Given the description of an element on the screen output the (x, y) to click on. 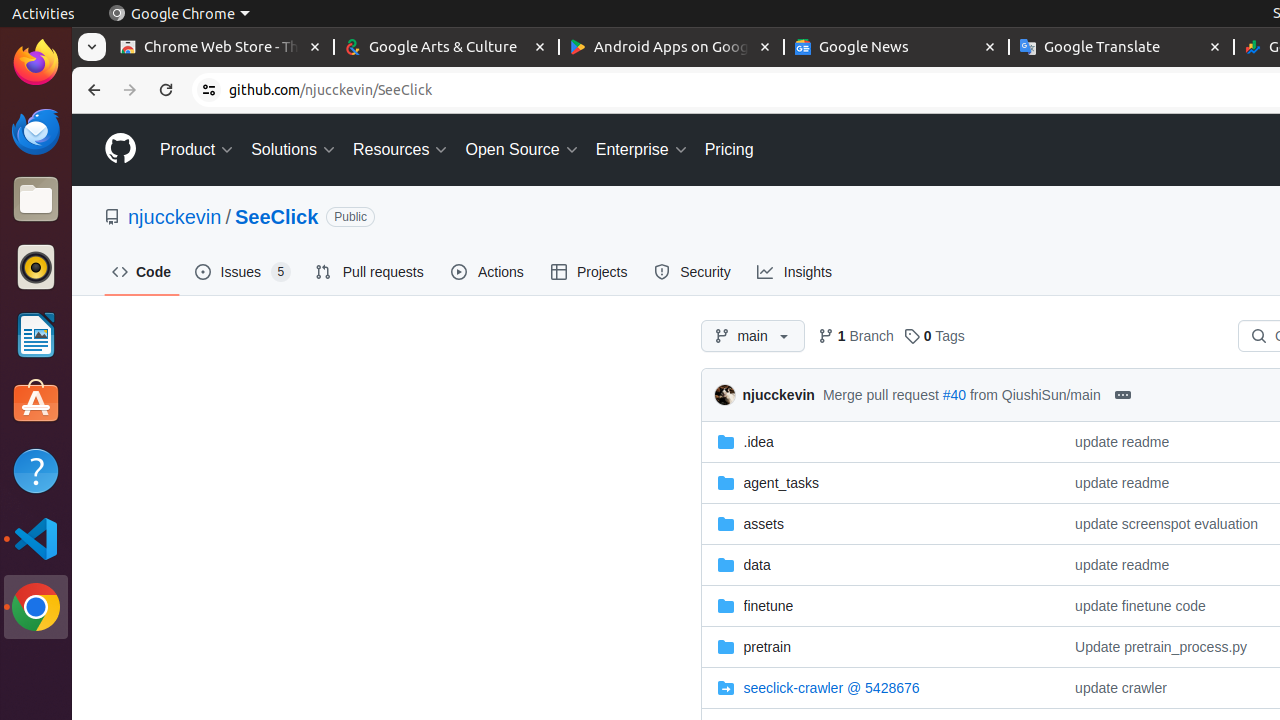
seeclick-crawler, (Submodule) Element type: table-cell (880, 687)
Rhythmbox Element type: push-button (36, 267)
Resources Element type: push-button (401, 150)
agent_tasks, (Directory) Element type: link (781, 482)
Homepage Element type: link (120, 150)
